Given the description of an element on the screen output the (x, y) to click on. 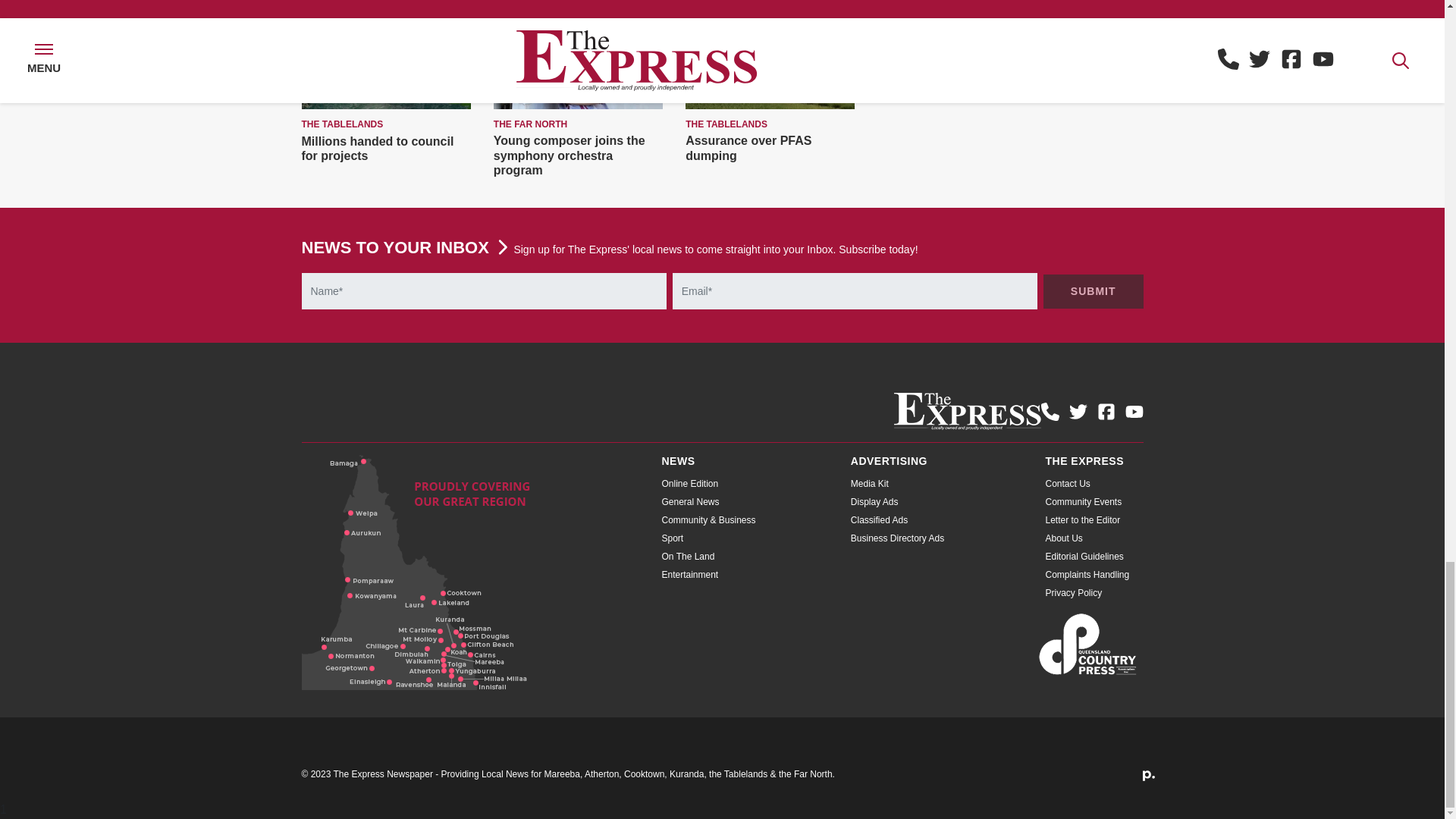
Young composer joins the symphony orchestra program (569, 155)
Assurance over PFAS dumping (747, 147)
Submit (1092, 291)
Millions handed to council for projects (377, 148)
Submit (1092, 291)
